Given the description of an element on the screen output the (x, y) to click on. 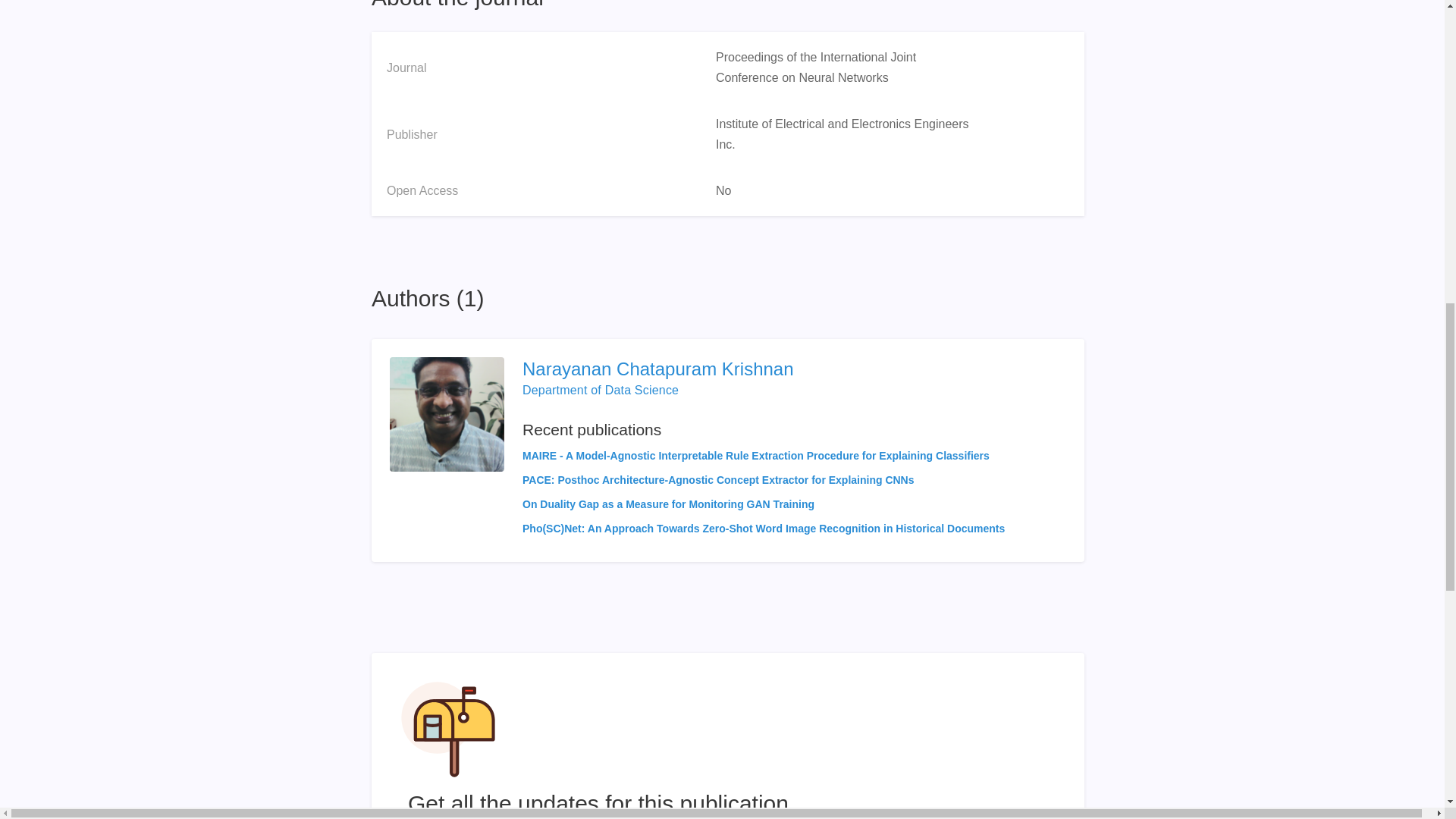
Subscribe form hero illustration (448, 728)
Department of Data Science (600, 390)
Narayanan Chatapuram Krishnan (763, 369)
On Duality Gap as a Measure for Monitoring GAN Training (667, 503)
